Given the description of an element on the screen output the (x, y) to click on. 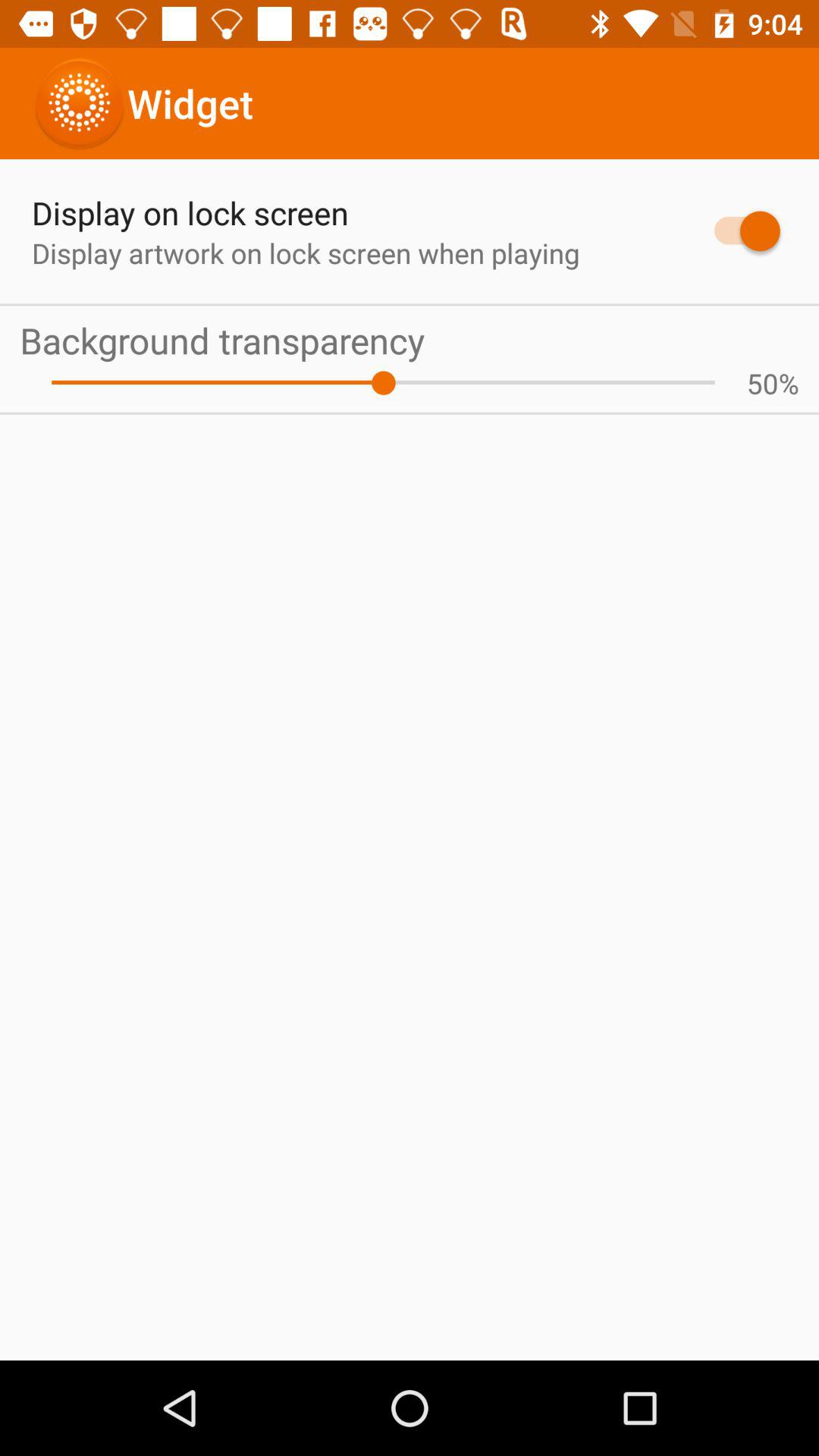
turn on the icon next to the display artwork on icon (739, 231)
